Given the description of an element on the screen output the (x, y) to click on. 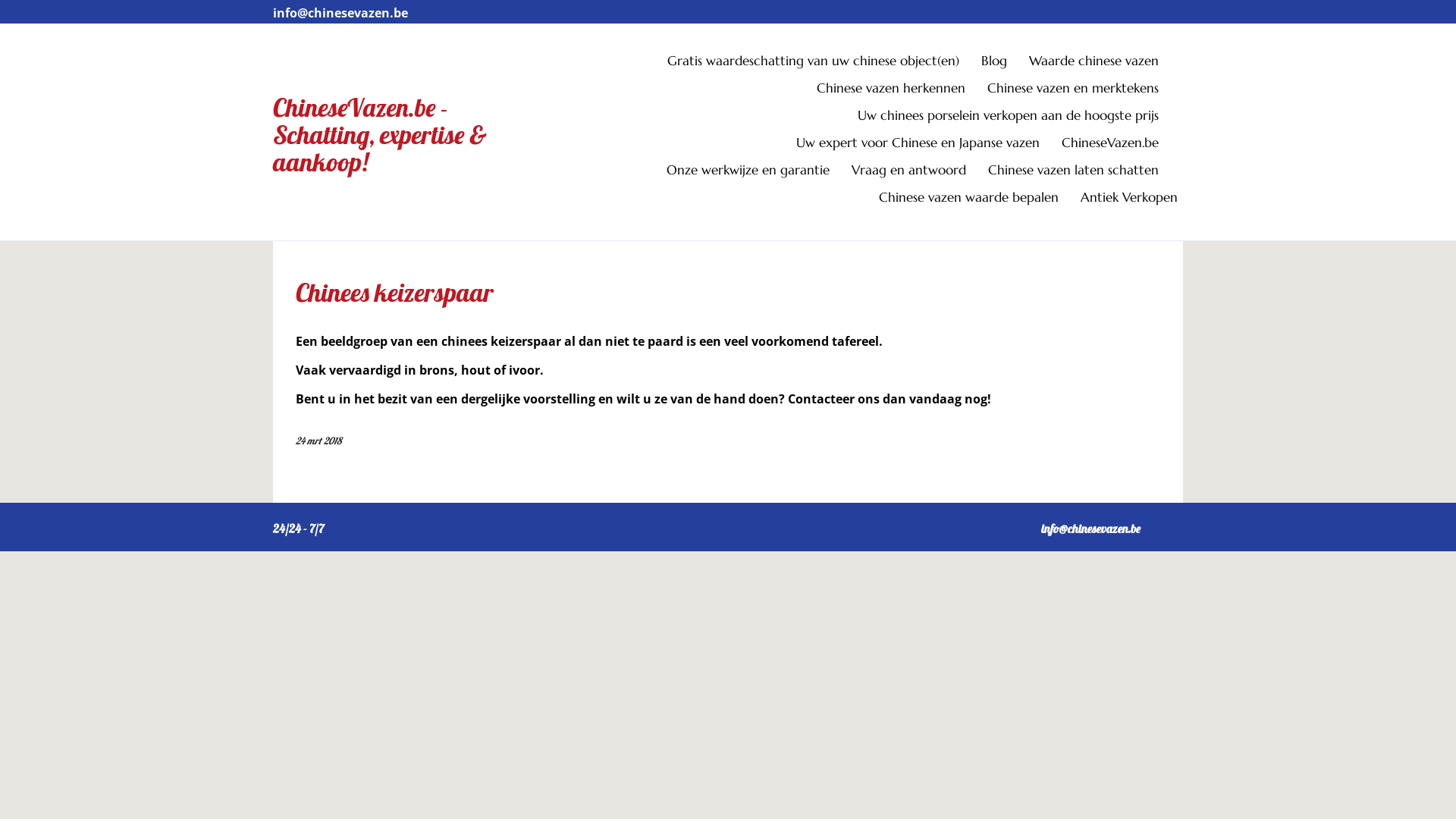
Vraag en antwoord Element type: text (918, 173)
info@chinesevazen.be Element type: text (340, 12)
Chinese vazen herkennen Element type: text (900, 91)
Chinese vazen en merktekens Element type: text (1082, 91)
Onze werkwijze en garantie Element type: text (757, 173)
info@chinesevazen.be Element type: text (1090, 528)
Uw chinees porselein verkopen aan de hoogste prijs Element type: text (1017, 118)
ChineseVazen.be Element type: text (1119, 146)
Waarde chinese vazen Element type: text (1103, 64)
ChineseVazen.be - Schatting, expertise & aankoop! Element type: text (379, 134)
Gratis waardeschatting van uw chinese object(en) Element type: text (822, 64)
Chinese vazen laten schatten Element type: text (1082, 173)
Uw expert voor Chinese en Japanse vazen Element type: text (927, 146)
Antiek Verkopen Element type: text (1128, 200)
Chinese vazen waarde bepalen Element type: text (977, 200)
Blog Element type: text (1003, 64)
